Given the description of an element on the screen output the (x, y) to click on. 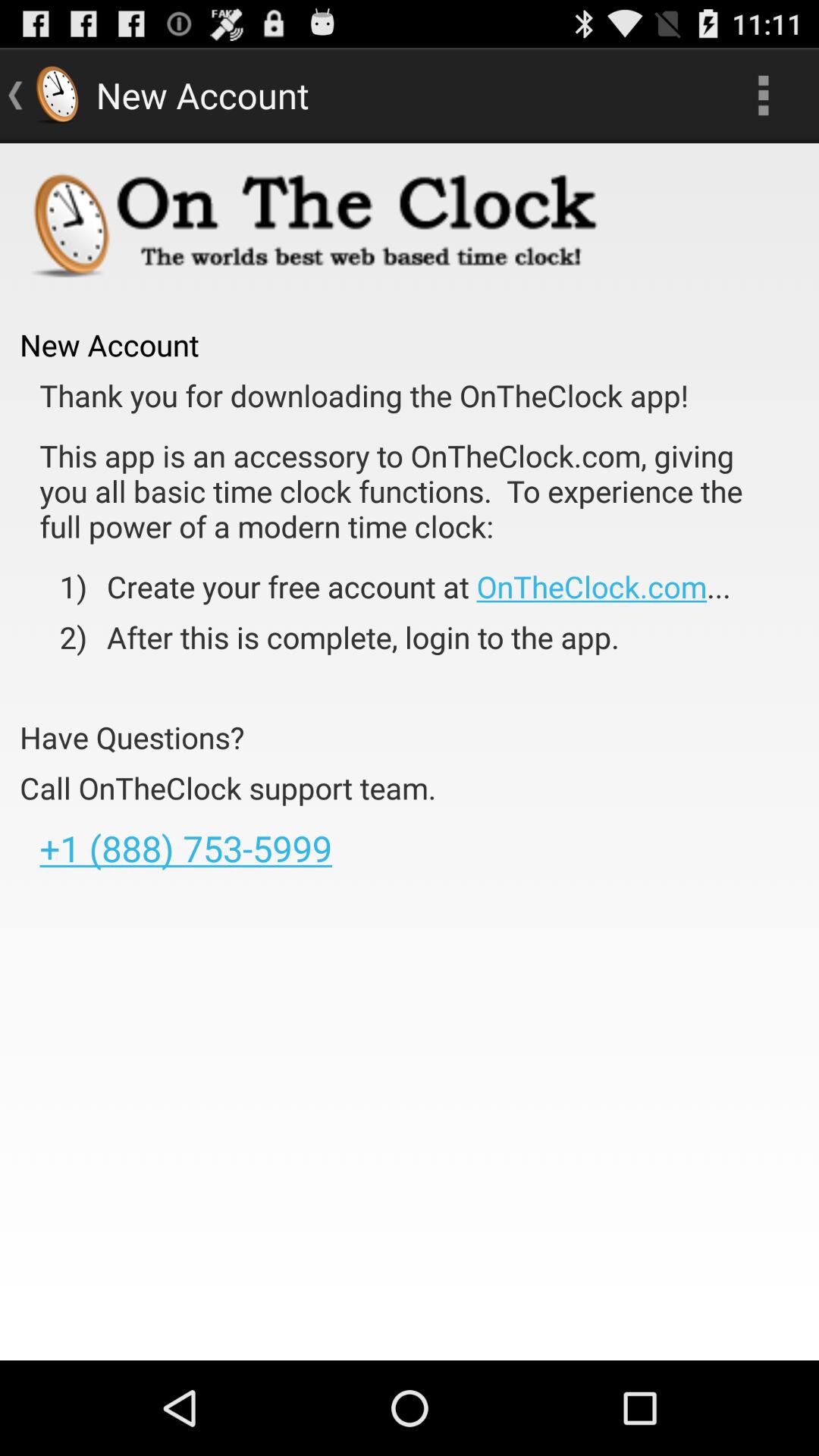
tap item below 2) item (131, 737)
